Given the description of an element on the screen output the (x, y) to click on. 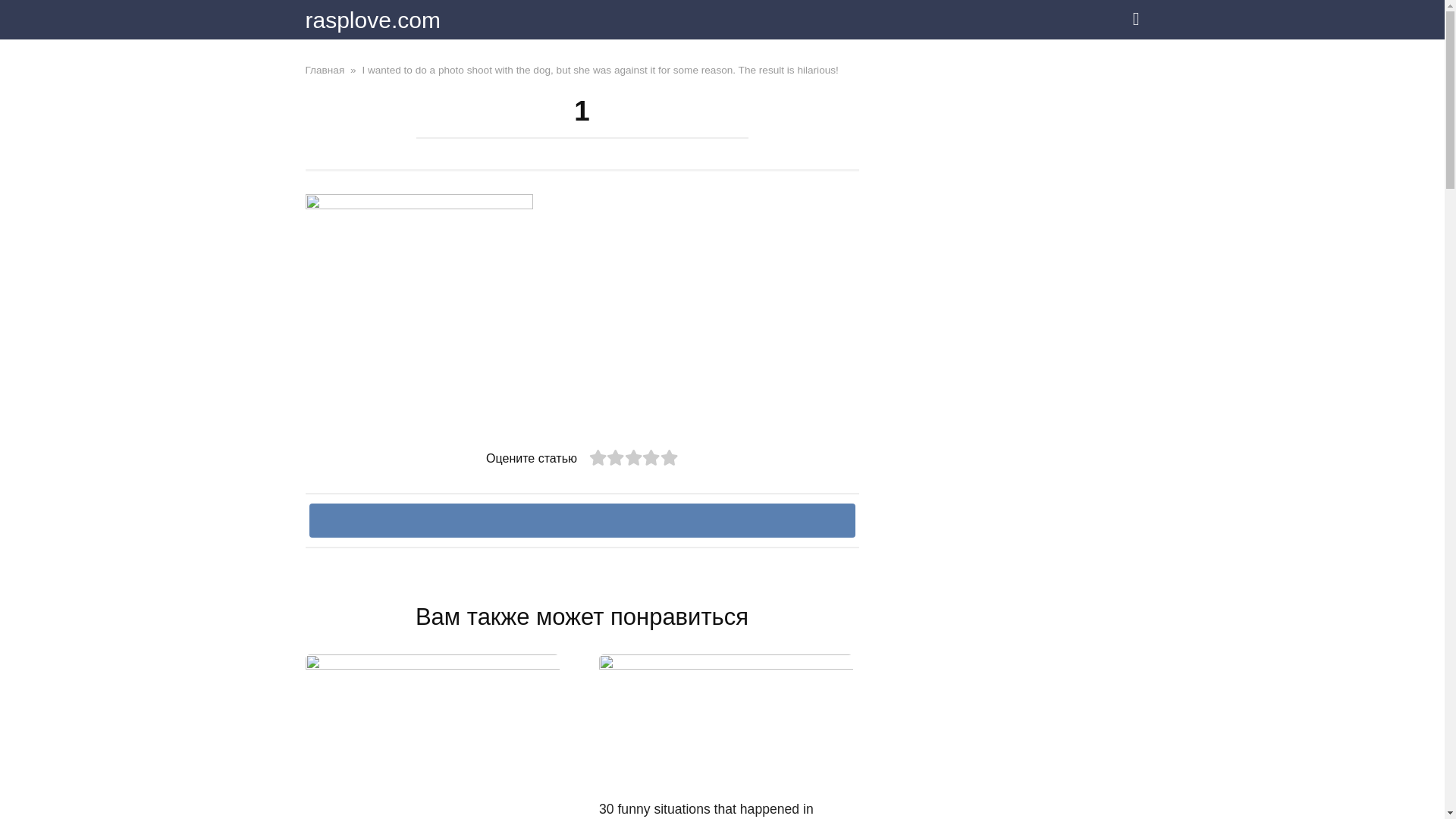
rasplove.com (371, 19)
30 funny situations that happened in animal shelters (705, 809)
